Given the description of an element on the screen output the (x, y) to click on. 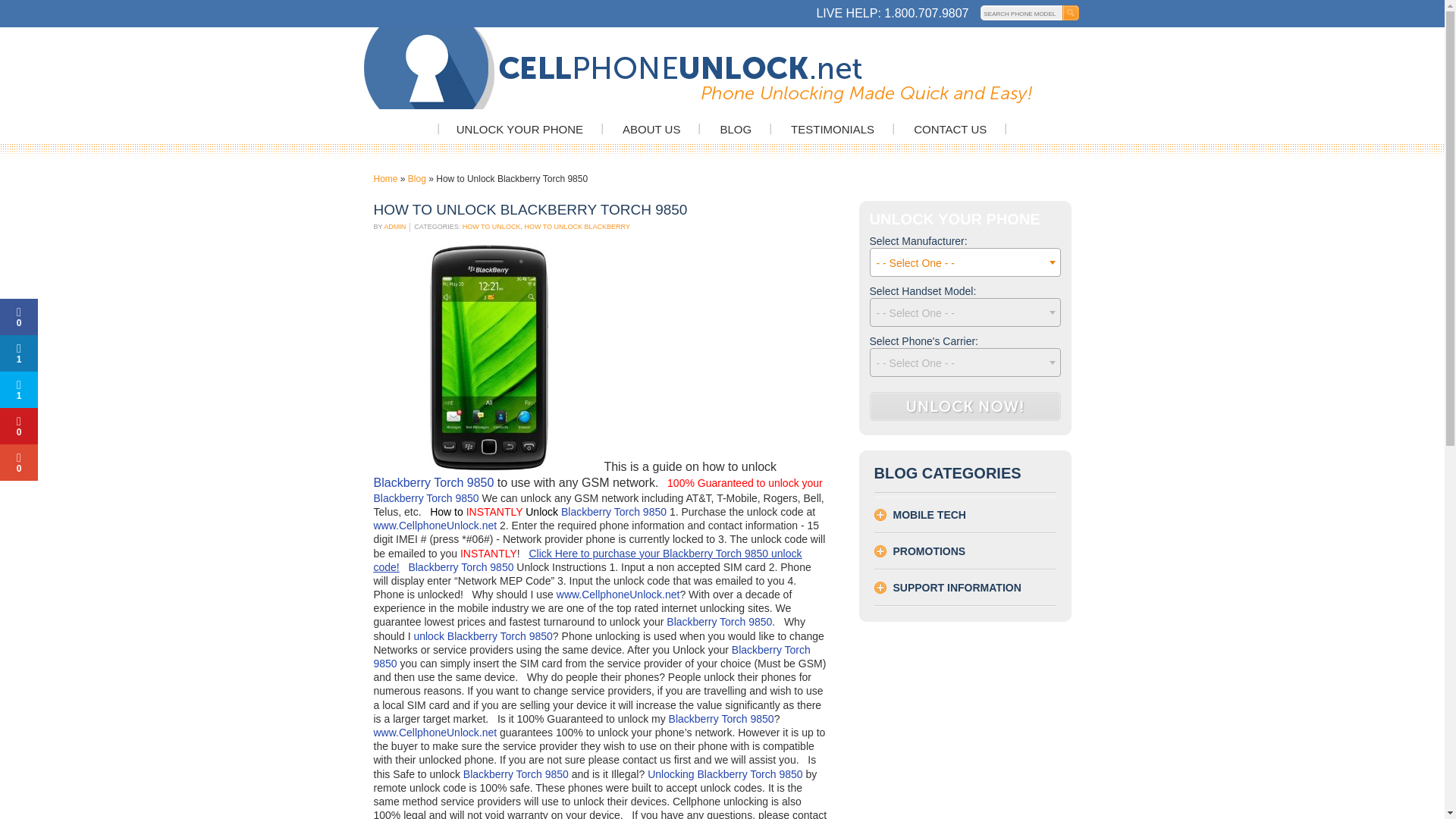
- - Select One - - (964, 362)
Search (1072, 12)
ABOUT US (651, 129)
1.800.707.9807 (925, 12)
TESTIMONIALS (832, 129)
HOW TO UNLOCK BLACKBERRY (577, 226)
Home (384, 178)
Blackberry Torch 9850 (432, 481)
How to INSTANTLY Unlock Blackberry Torch 9850 (547, 511)
Blackberry Torch 9850 (426, 498)
www.CellphoneUnlock.net (434, 525)
HOW TO UNLOCK (492, 226)
BLOG (735, 129)
- - Select One - - (964, 262)
